Given the description of an element on the screen output the (x, y) to click on. 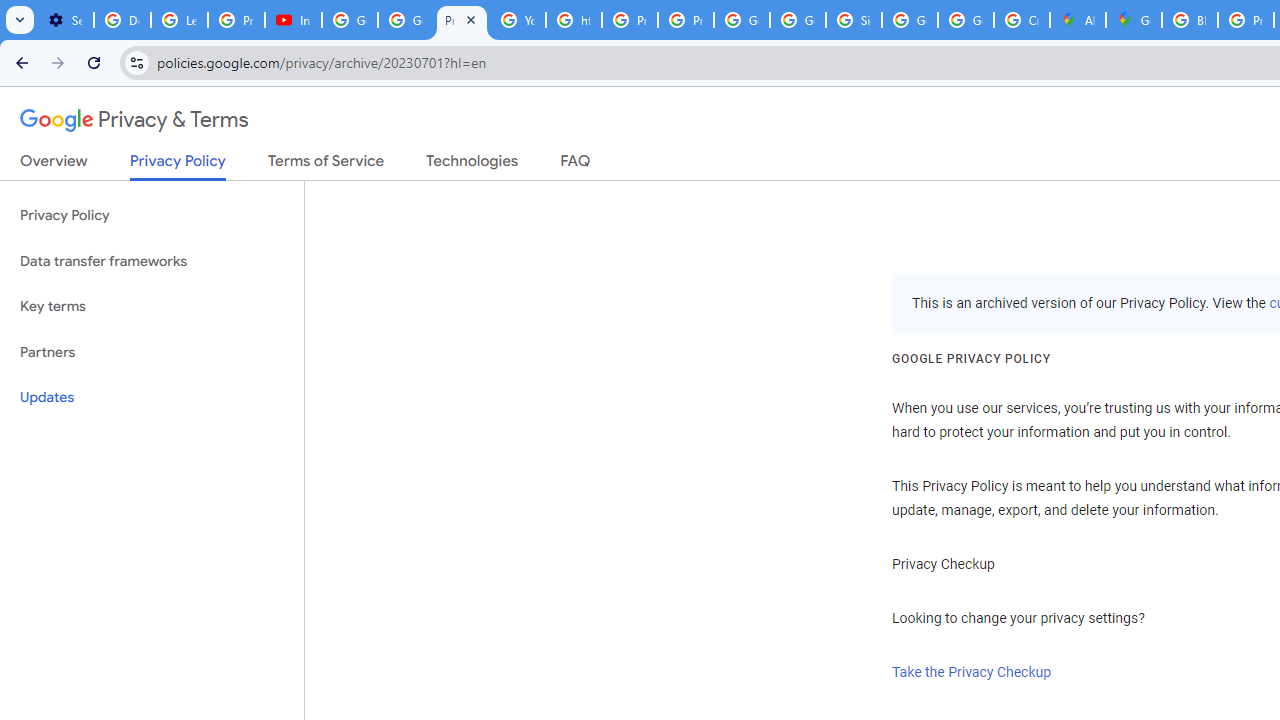
Privacy Help Center - Policies Help (629, 20)
Google Account Help (349, 20)
YouTube (518, 20)
Updates (152, 398)
Delete photos & videos - Computer - Google Photos Help (122, 20)
Take the Privacy Checkup (972, 672)
Blogger Policies and Guidelines - Transparency Center (1190, 20)
